Given the description of an element on the screen output the (x, y) to click on. 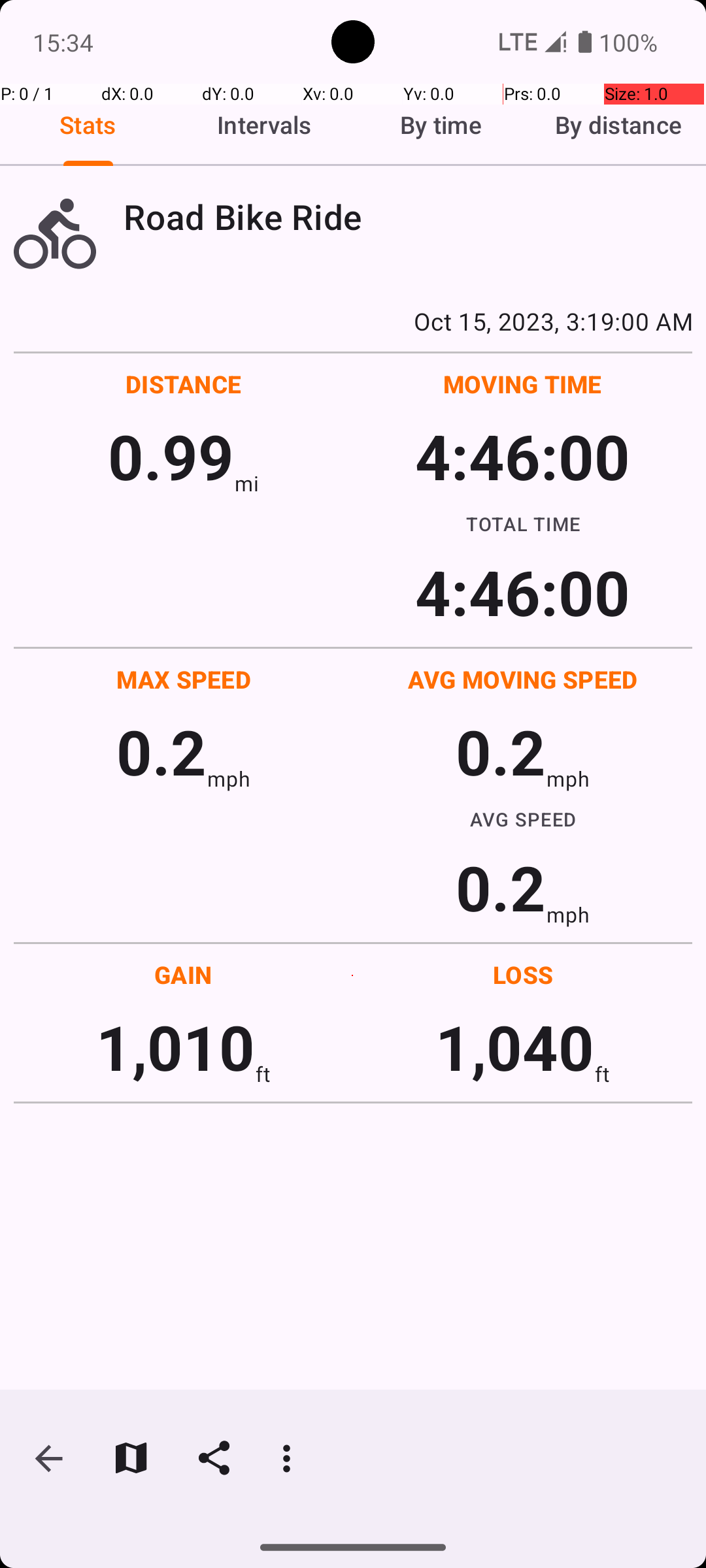
Road Bike Ride Element type: android.widget.TextView (407, 216)
Oct 15, 2023, 3:19:00 AM Element type: android.widget.TextView (352, 320)
0.99 Element type: android.widget.TextView (170, 455)
4:46:00 Element type: android.widget.TextView (522, 455)
0.2 Element type: android.widget.TextView (161, 750)
1,010 Element type: android.widget.TextView (175, 1045)
1,040 Element type: android.widget.TextView (514, 1045)
